Given the description of an element on the screen output the (x, y) to click on. 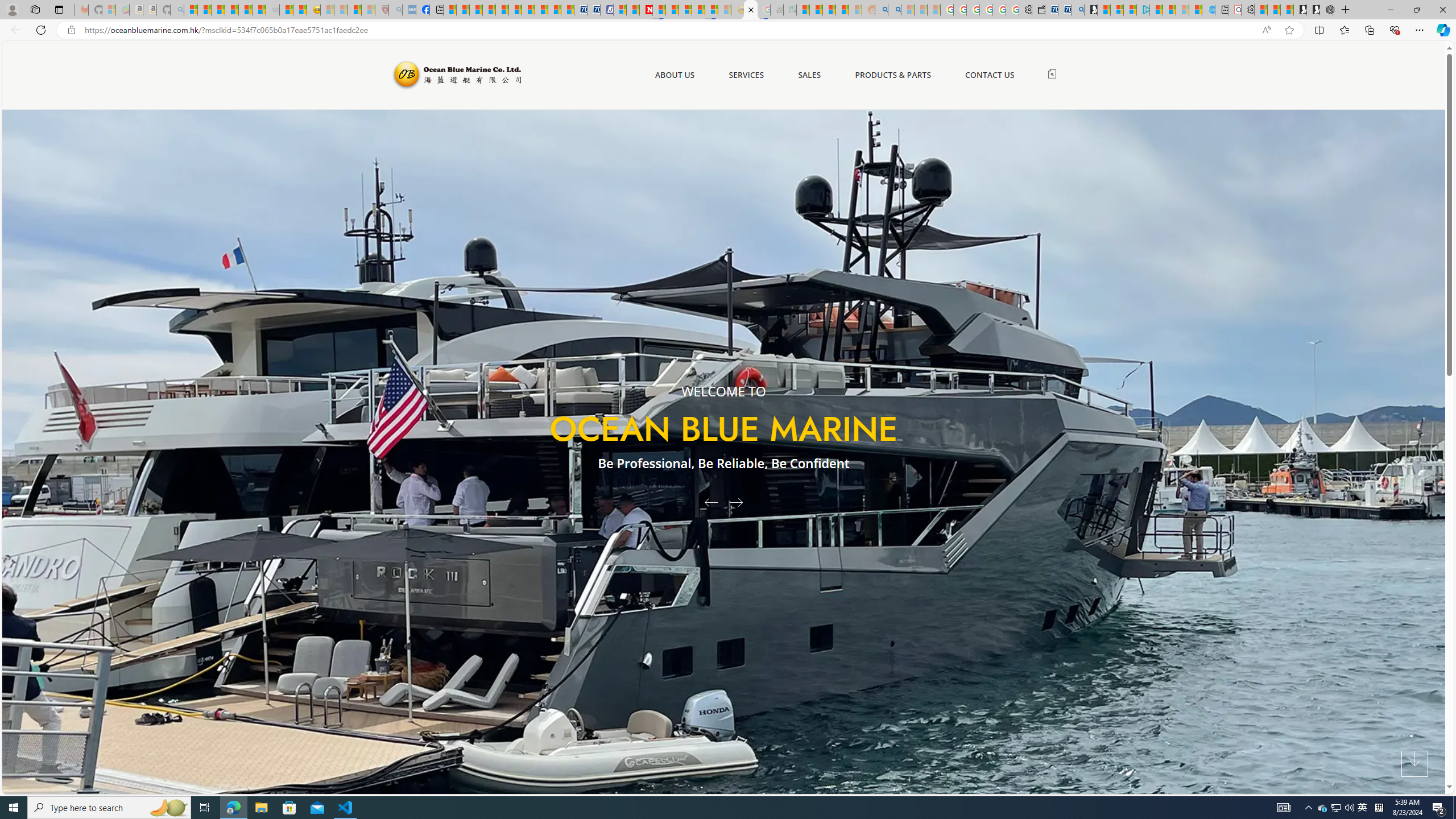
Climate Damage Becomes Too Severe To Reverse (488, 9)
Cheap Hotels - Save70.com (593, 9)
Student Loan Update: Forgiveness Program Ends This Month (842, 9)
Next Slide (740, 501)
SALES (809, 75)
